Given the description of an element on the screen output the (x, y) to click on. 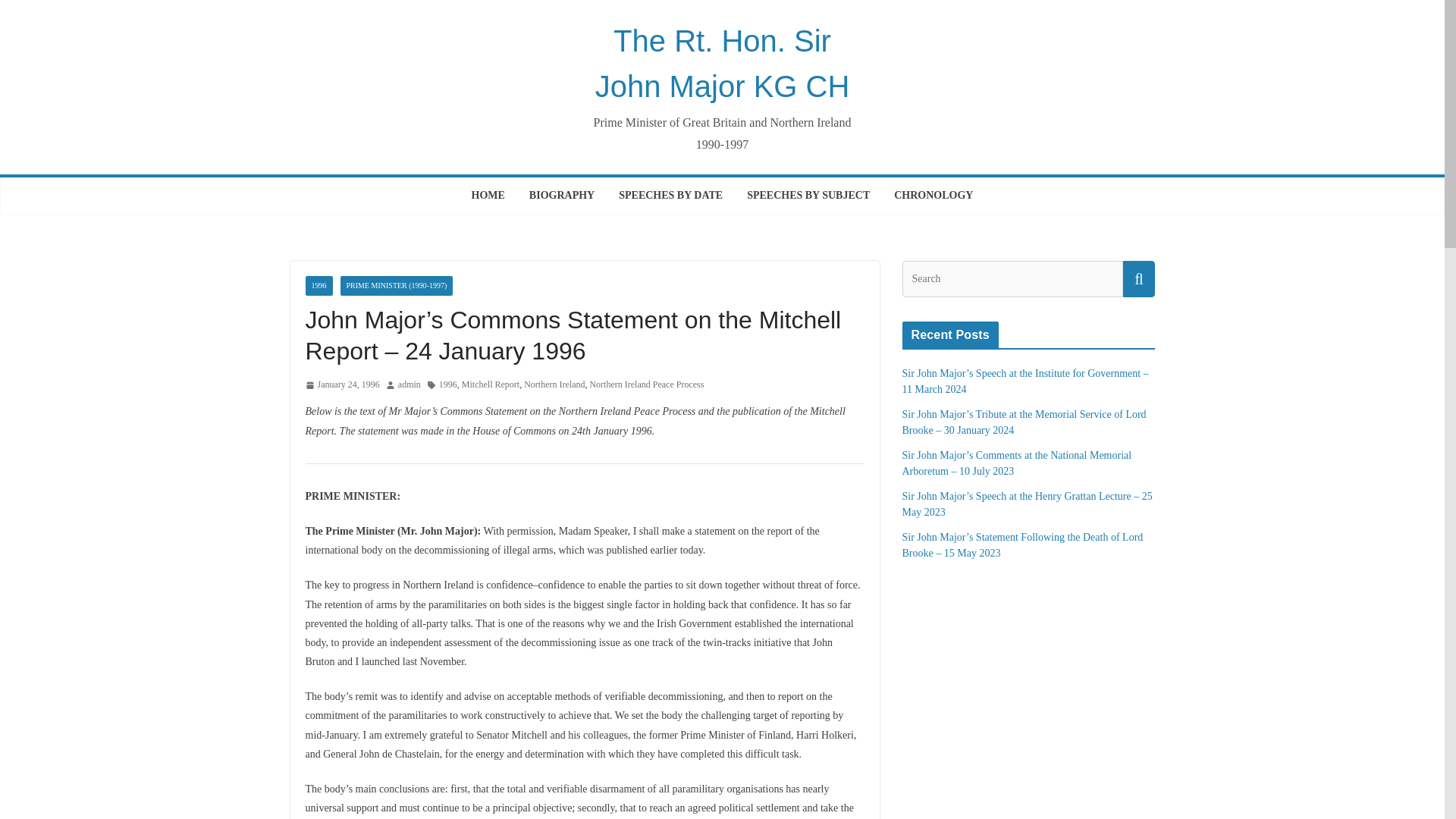
SPEECHES BY SUBJECT (807, 196)
The Rt. Hon. Sir John Major KG CH (722, 63)
admin (408, 384)
Northern Ireland (554, 384)
Northern Ireland Peace Process (646, 384)
Mitchell Report (490, 384)
admin (408, 384)
SPEECHES BY DATE (670, 196)
1996 (448, 384)
January 24, 1996 (341, 384)
